Given the description of an element on the screen output the (x, y) to click on. 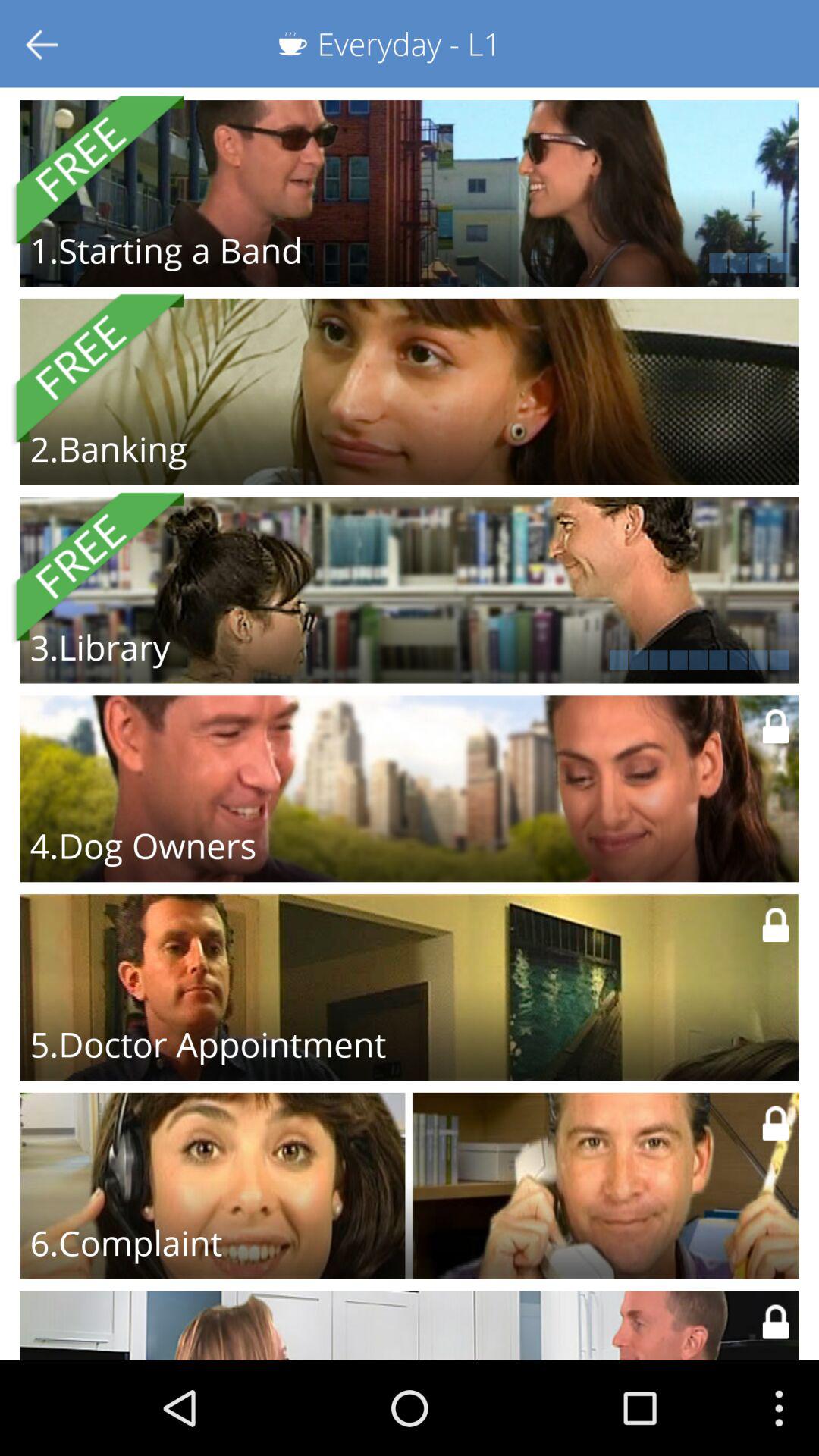
open the icon next to 1 starting a icon (608, 263)
